Given the description of an element on the screen output the (x, y) to click on. 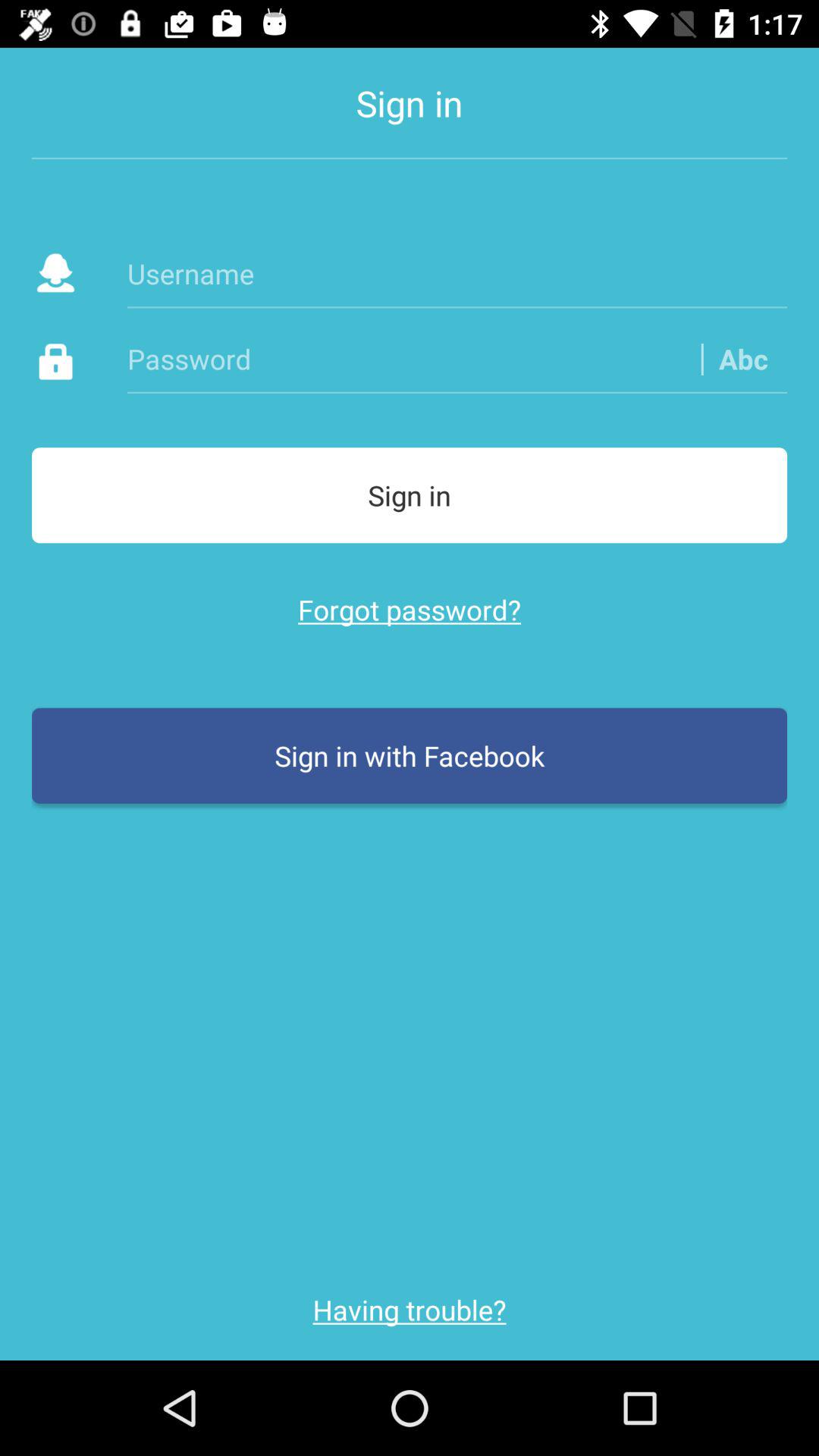
select the item below the sign in icon (409, 609)
